Given the description of an element on the screen output the (x, y) to click on. 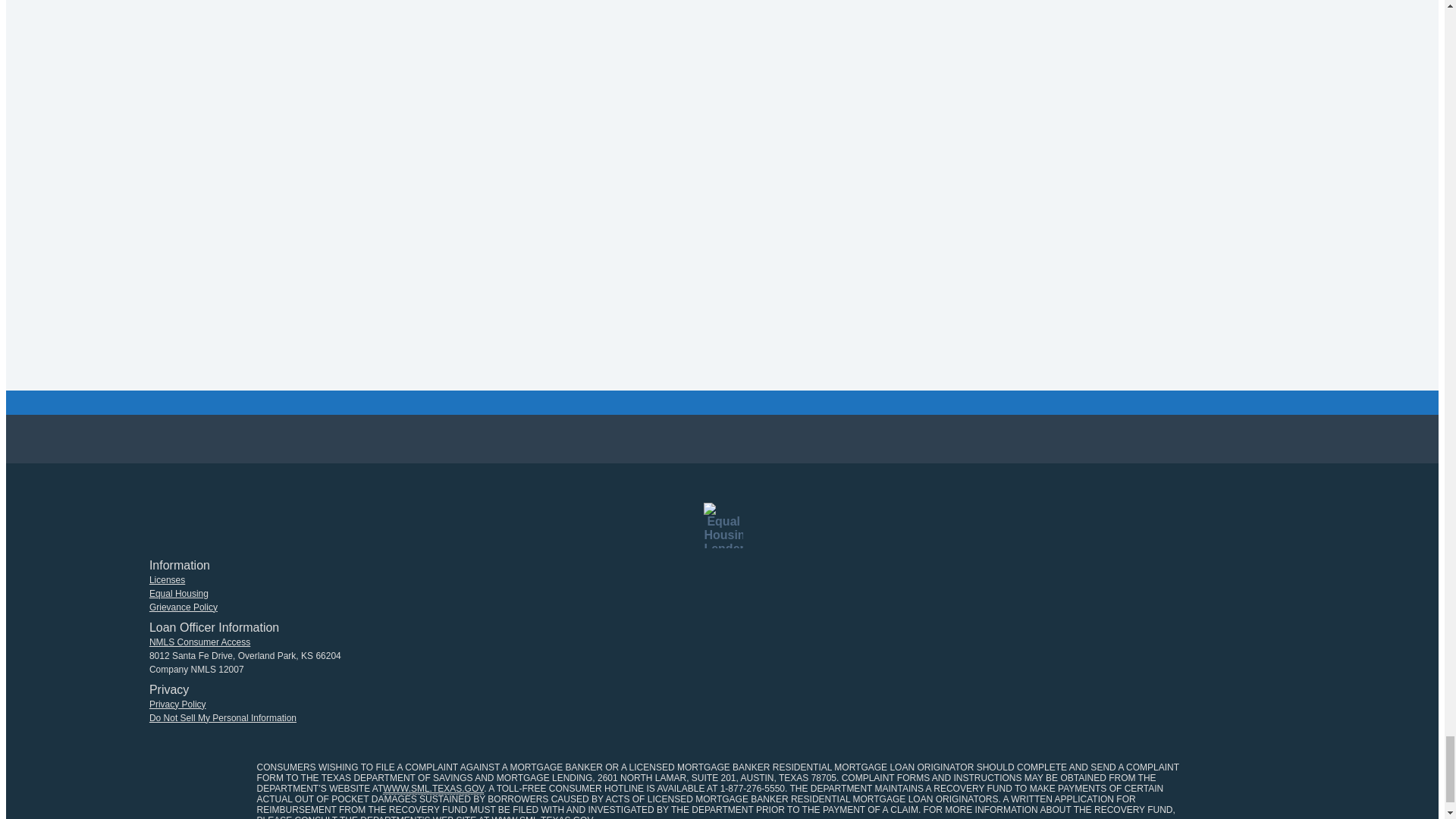
Equal Housing (178, 593)
WWW.SML.TEXAS.GOV (432, 788)
NMLS Consumer Access (199, 642)
WWW.SML.TEXAS.GOV (542, 816)
Privacy Policy (177, 704)
Licenses (166, 579)
Do Not Sell My Personal Information (223, 717)
Grievance Policy (182, 606)
